Given the description of an element on the screen output the (x, y) to click on. 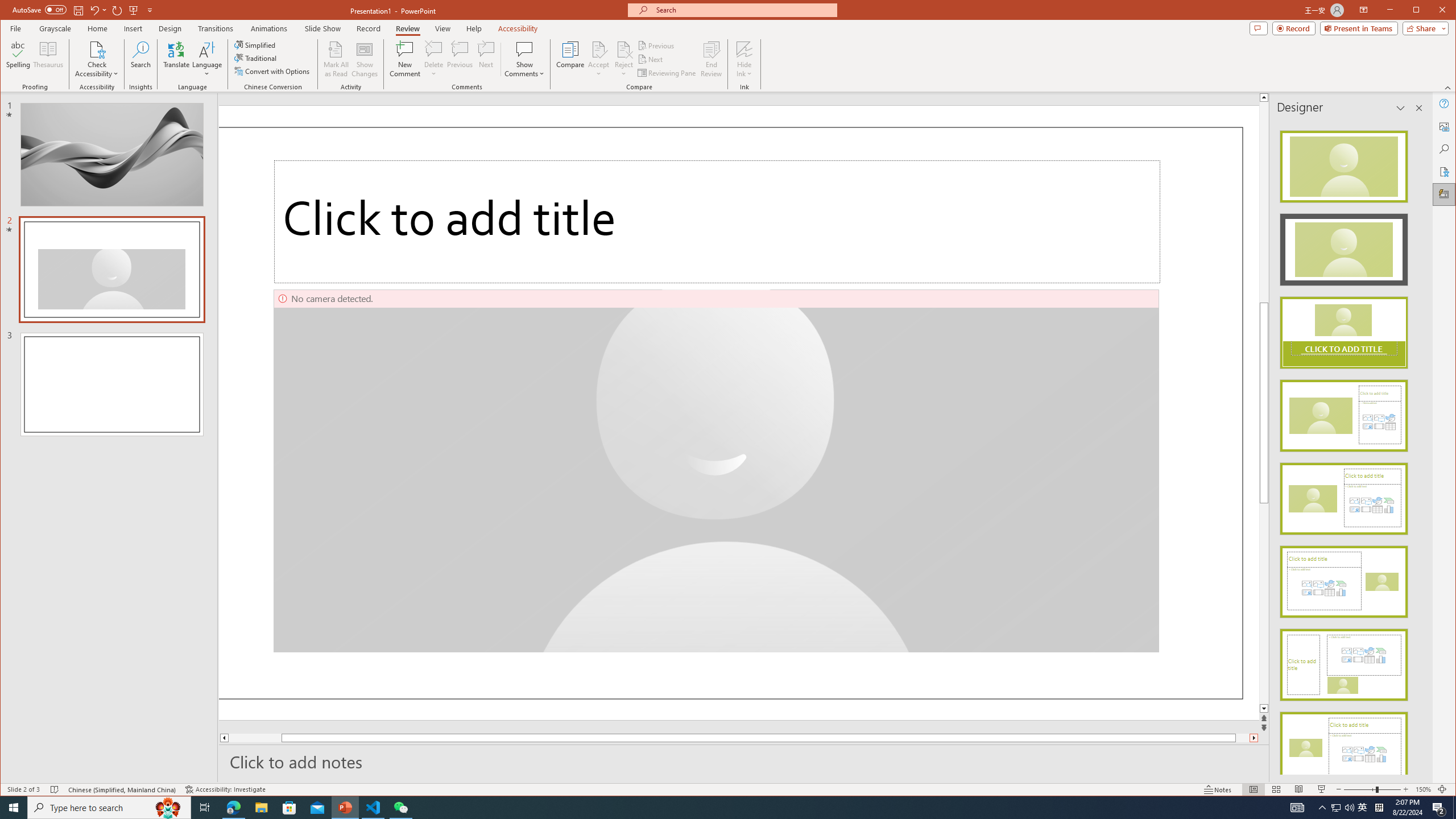
Convert with Options... (272, 70)
End Review (710, 59)
Show Changes (365, 59)
Accept Change (598, 48)
Previous (657, 45)
